Given the description of an element on the screen output the (x, y) to click on. 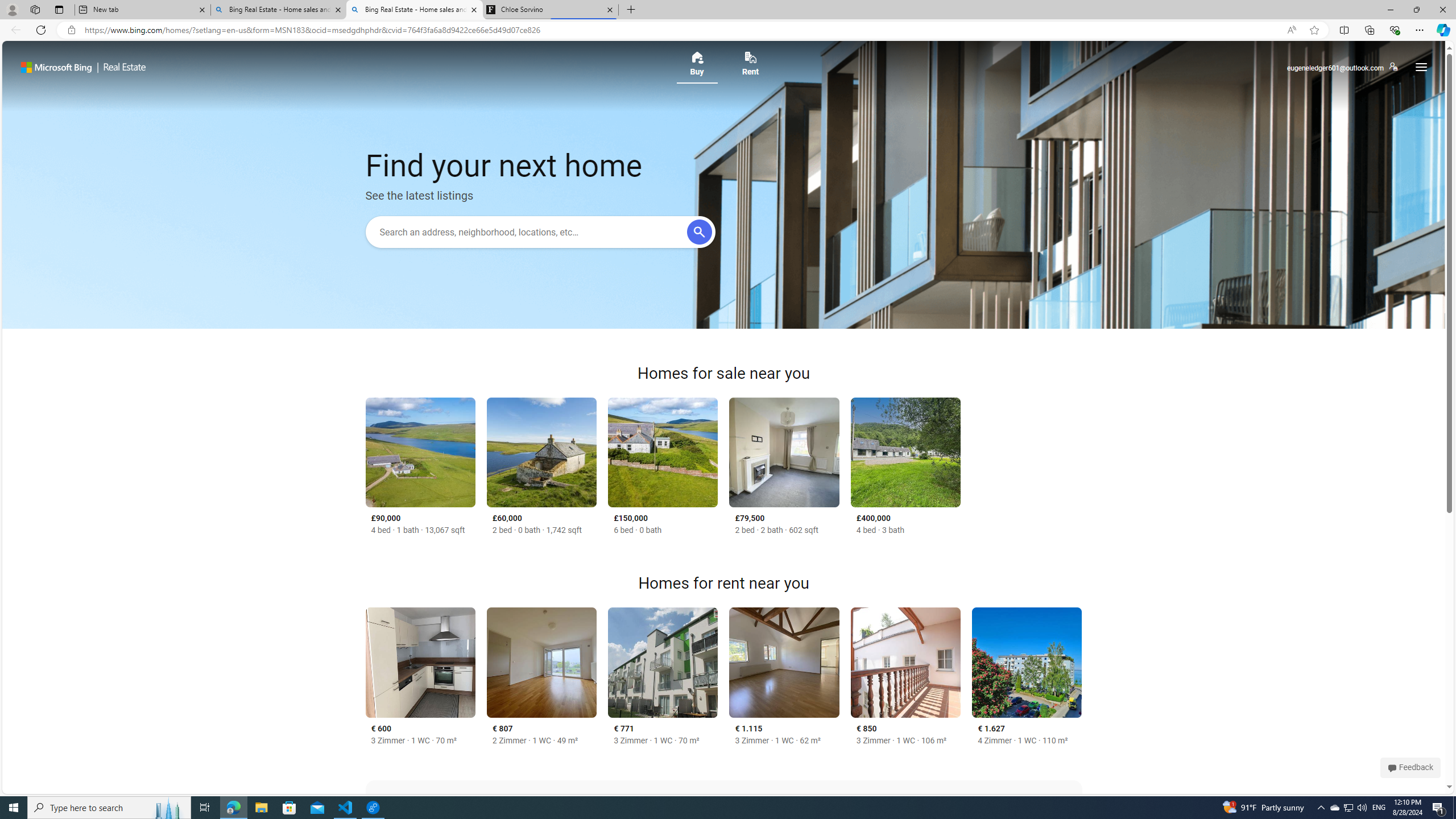
Holly Avenue, Winlaton Mill, NE21 6SJ (784, 452)
hamburger button  (1420, 67)
Lochau, Tirol, Vorarlberg 6900 (1026, 662)
